Given the description of an element on the screen output the (x, y) to click on. 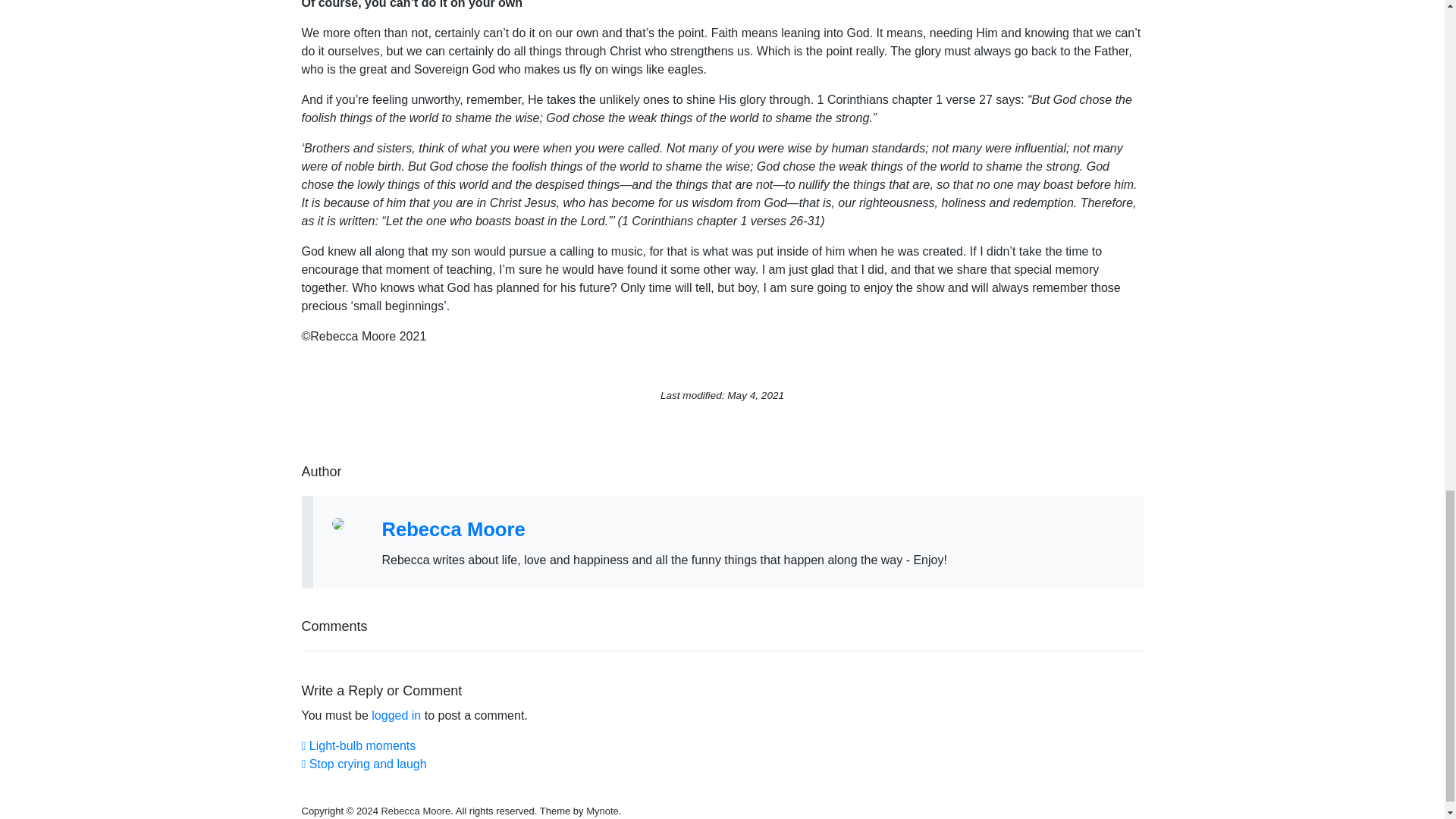
logged in (395, 715)
Rebecca Moore (453, 528)
Mynote (358, 745)
Rebecca Moore (602, 810)
